Given the description of an element on the screen output the (x, y) to click on. 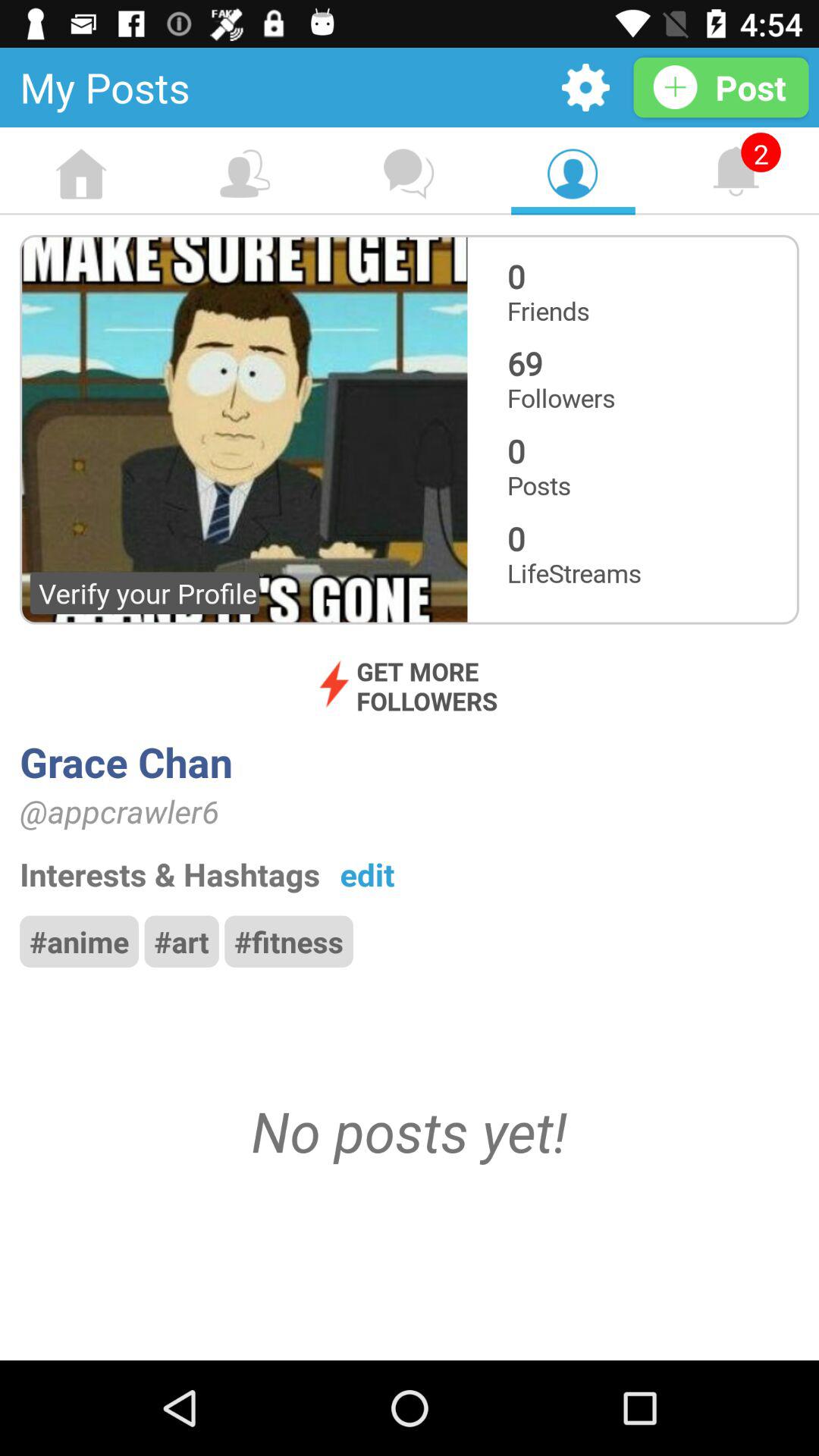
swipe until the #art icon (181, 941)
